Given the description of an element on the screen output the (x, y) to click on. 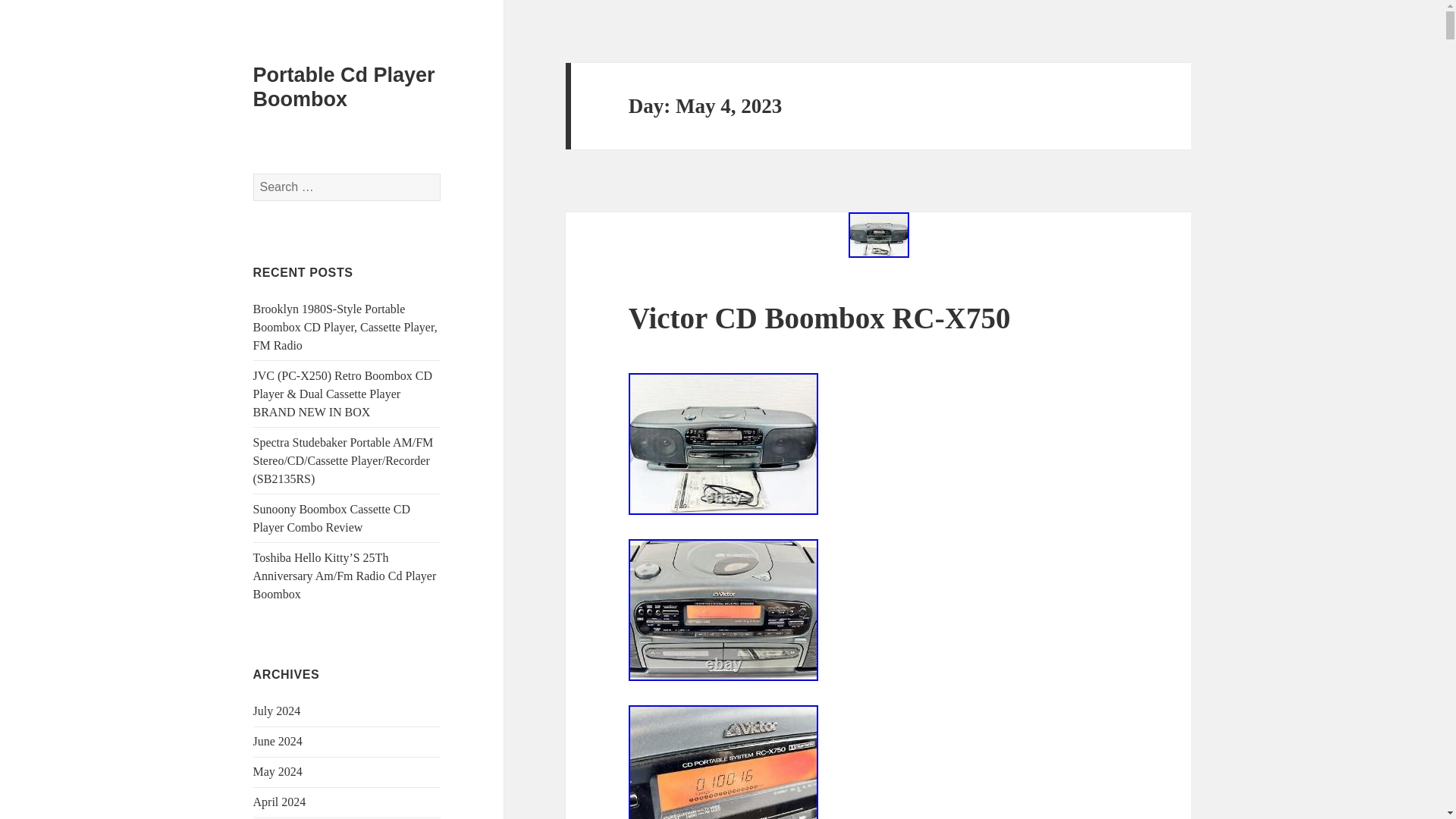
April 2024 (279, 801)
June 2024 (277, 740)
May 2024 (277, 771)
Search for: (347, 186)
Portable Cd Player Boombox (344, 86)
Sunoony Boombox Cassette CD Player Combo Review (331, 517)
July 2024 (277, 710)
